Given the description of an element on the screen output the (x, y) to click on. 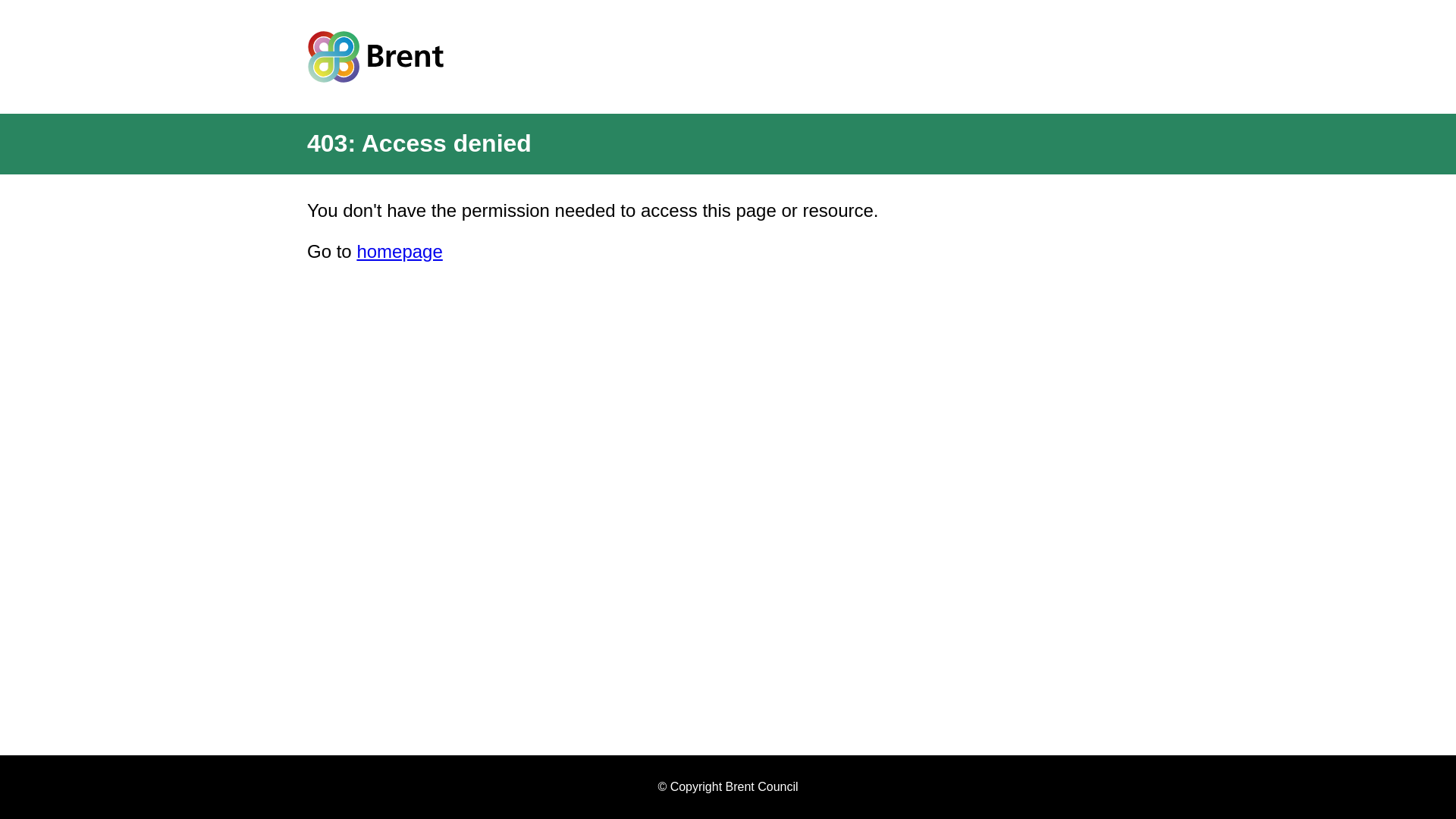
Logo (375, 56)
homepage (399, 250)
